Given the description of an element on the screen output the (x, y) to click on. 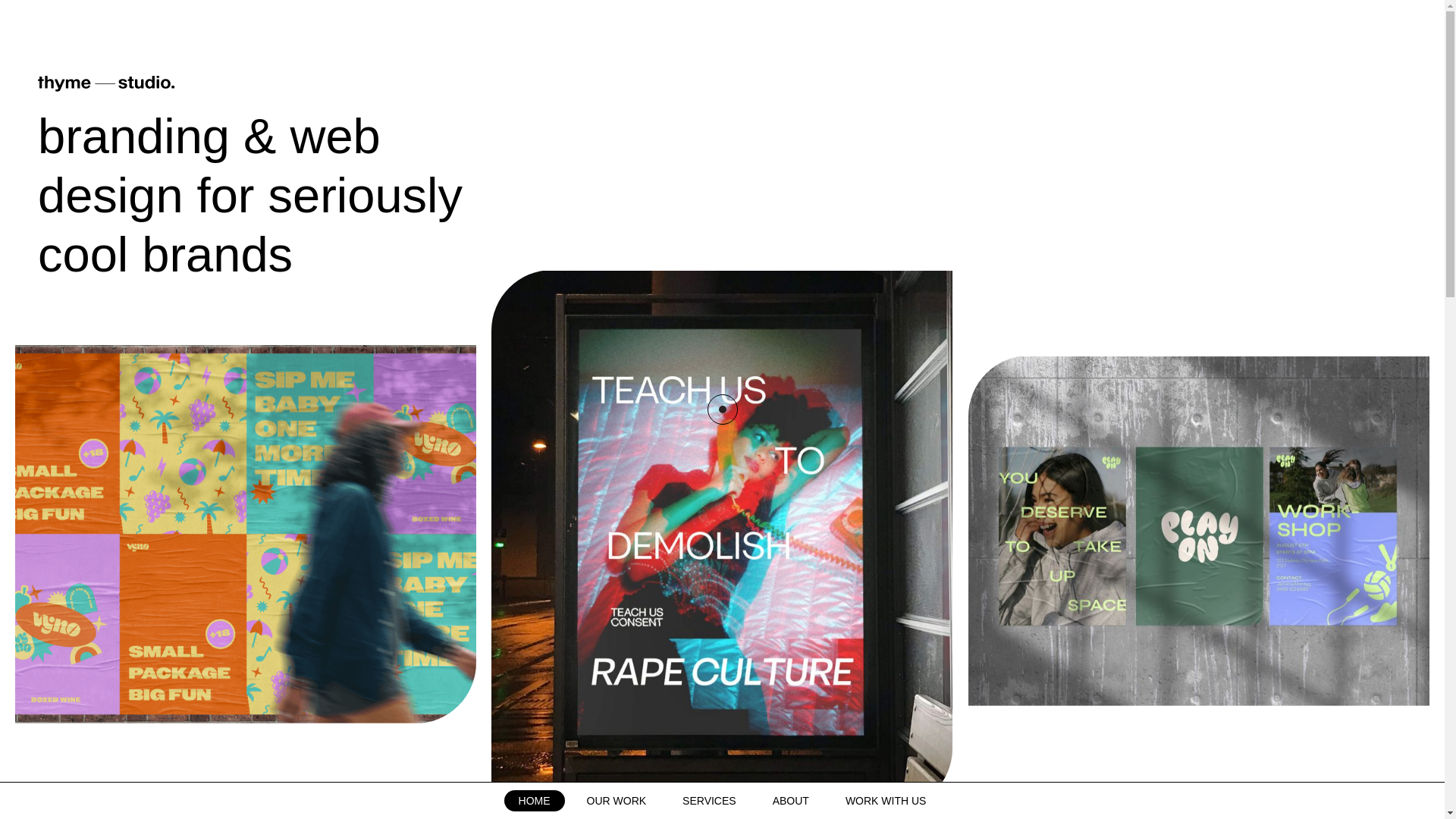
OUR WORK (616, 800)
SERVICES (709, 800)
HOME (533, 800)
WORK WITH US (885, 800)
ABOUT (791, 800)
